Given the description of an element on the screen output the (x, y) to click on. 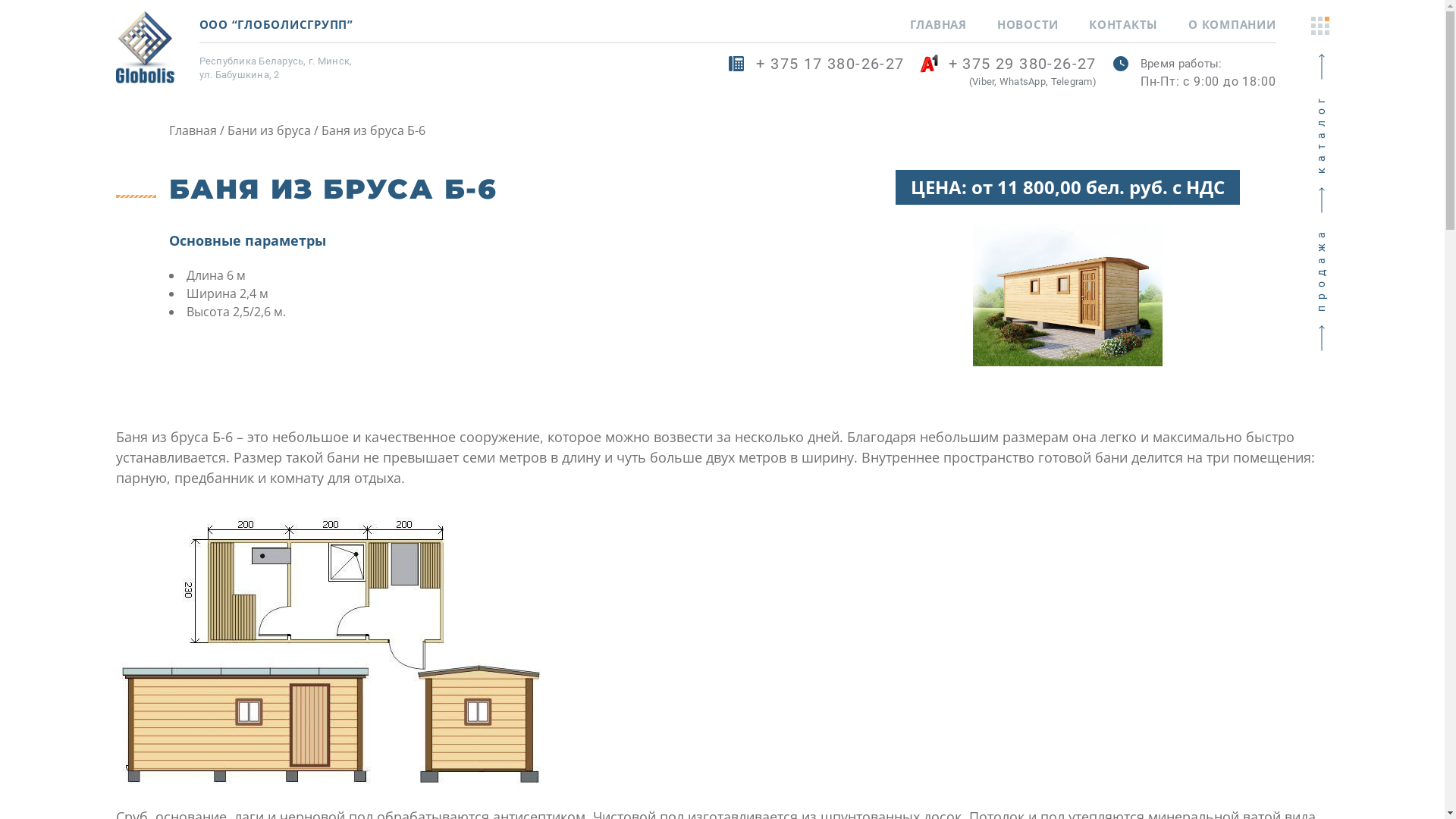
+ 375 29 380-26-27
(Viber, WhatsApp, Telegram) Element type: text (1007, 72)
+ 375 17 380-26-27 Element type: text (815, 72)
